Given the description of an element on the screen output the (x, y) to click on. 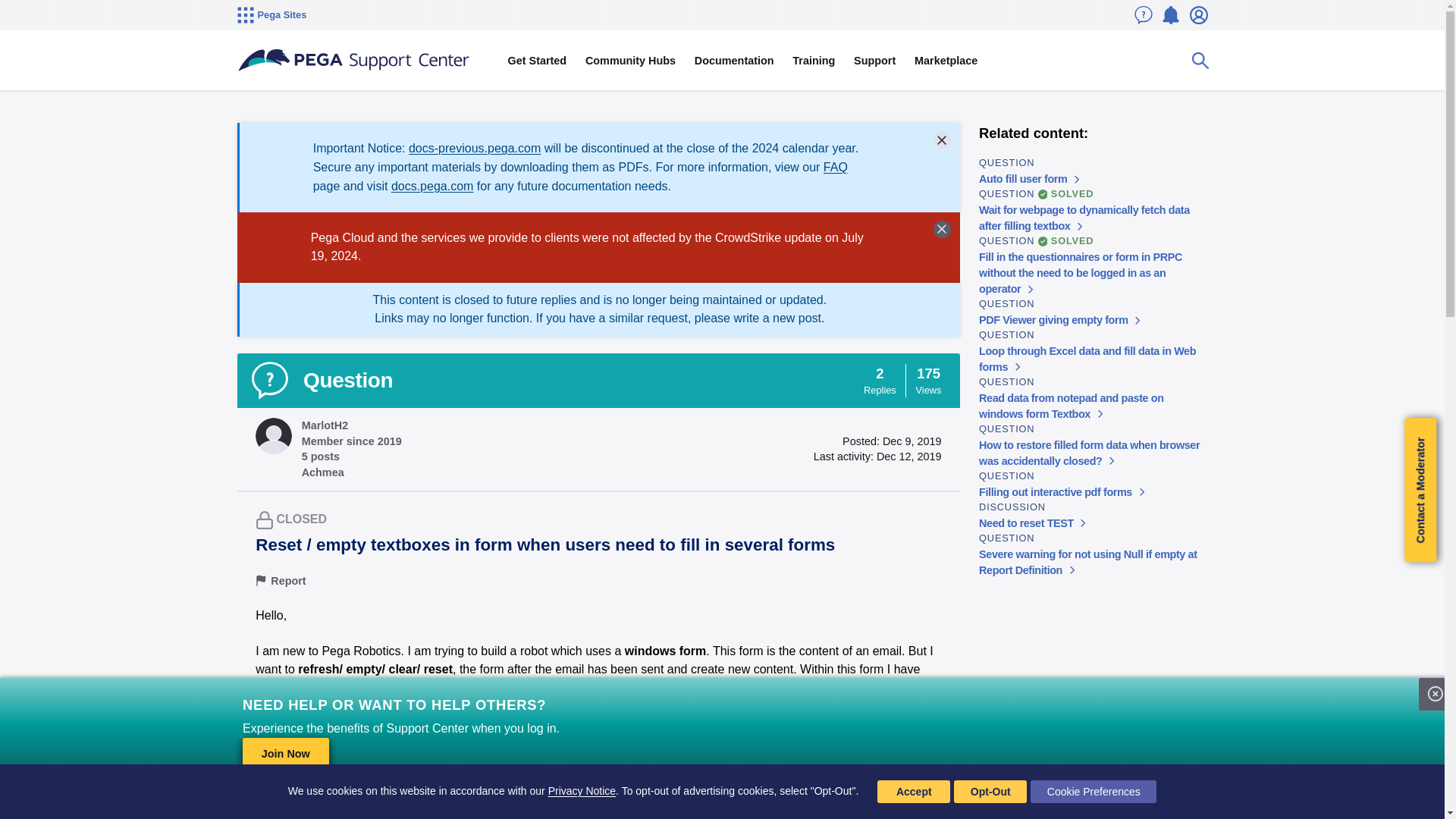
Get Started (536, 60)
Toggle Search Panel (1200, 60)
Community Hubs (630, 60)
